Given the description of an element on the screen output the (x, y) to click on. 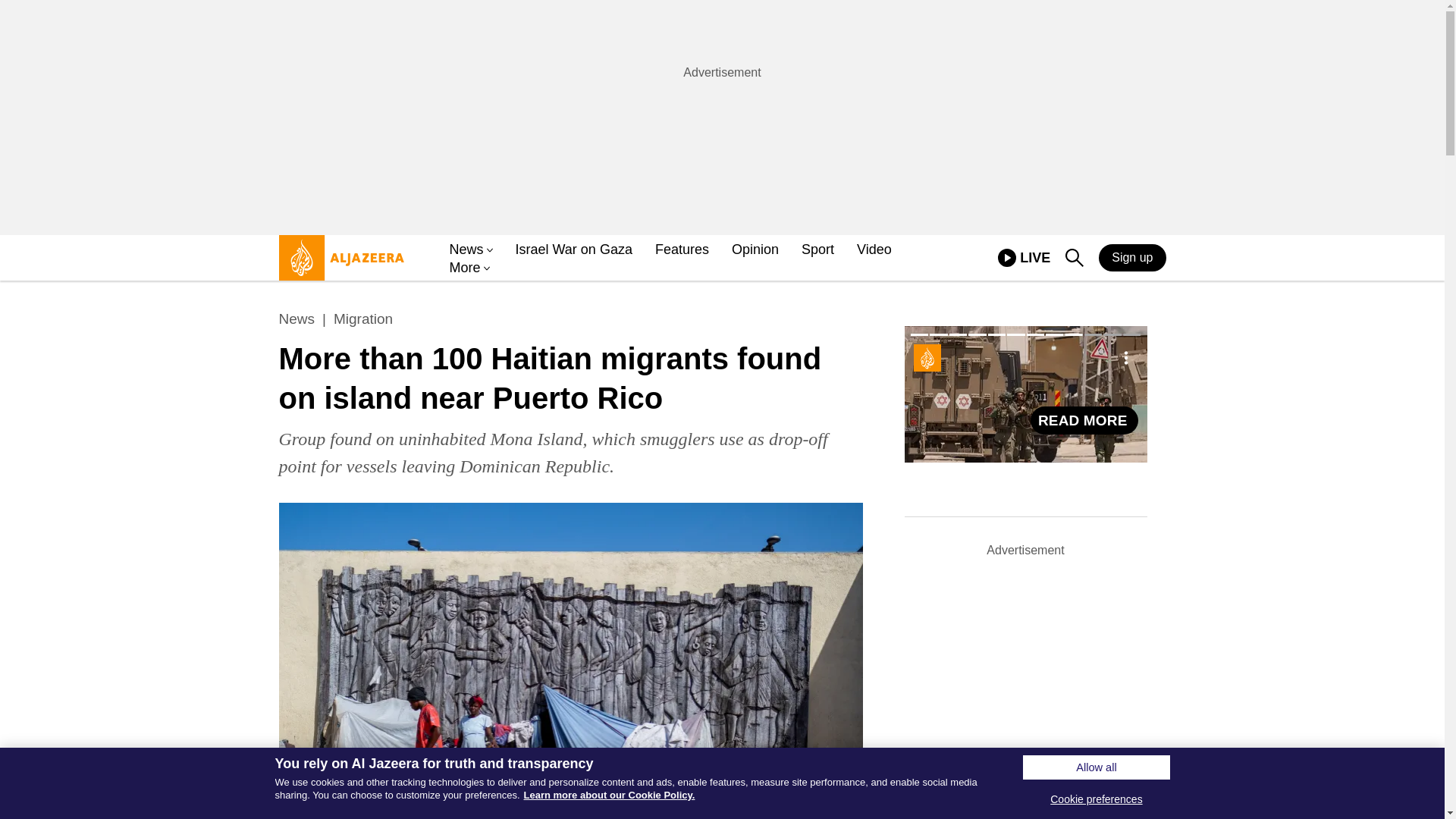
Skip to Content (337, 264)
Sign up (1132, 257)
News (297, 319)
More (464, 268)
Video (874, 249)
Israel War on Gaza (573, 249)
play (1006, 257)
3rd party ad content (722, 117)
Migration (363, 319)
search (1074, 257)
News (465, 249)
Sport (818, 249)
Features (1023, 257)
Opinion (682, 249)
